Given the description of an element on the screen output the (x, y) to click on. 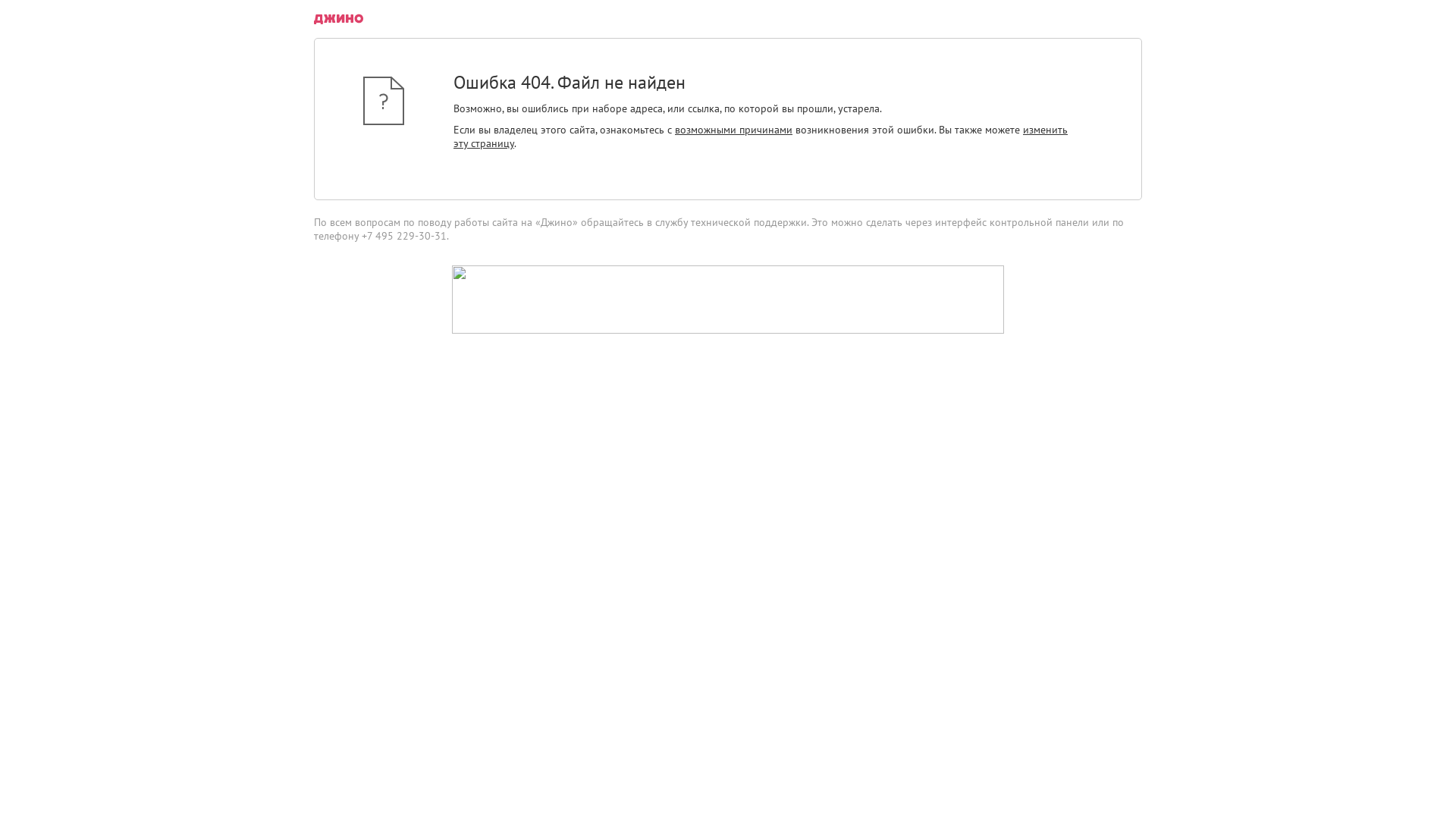
+7 495 229-30-31 Element type: text (403, 235)
